Given the description of an element on the screen output the (x, y) to click on. 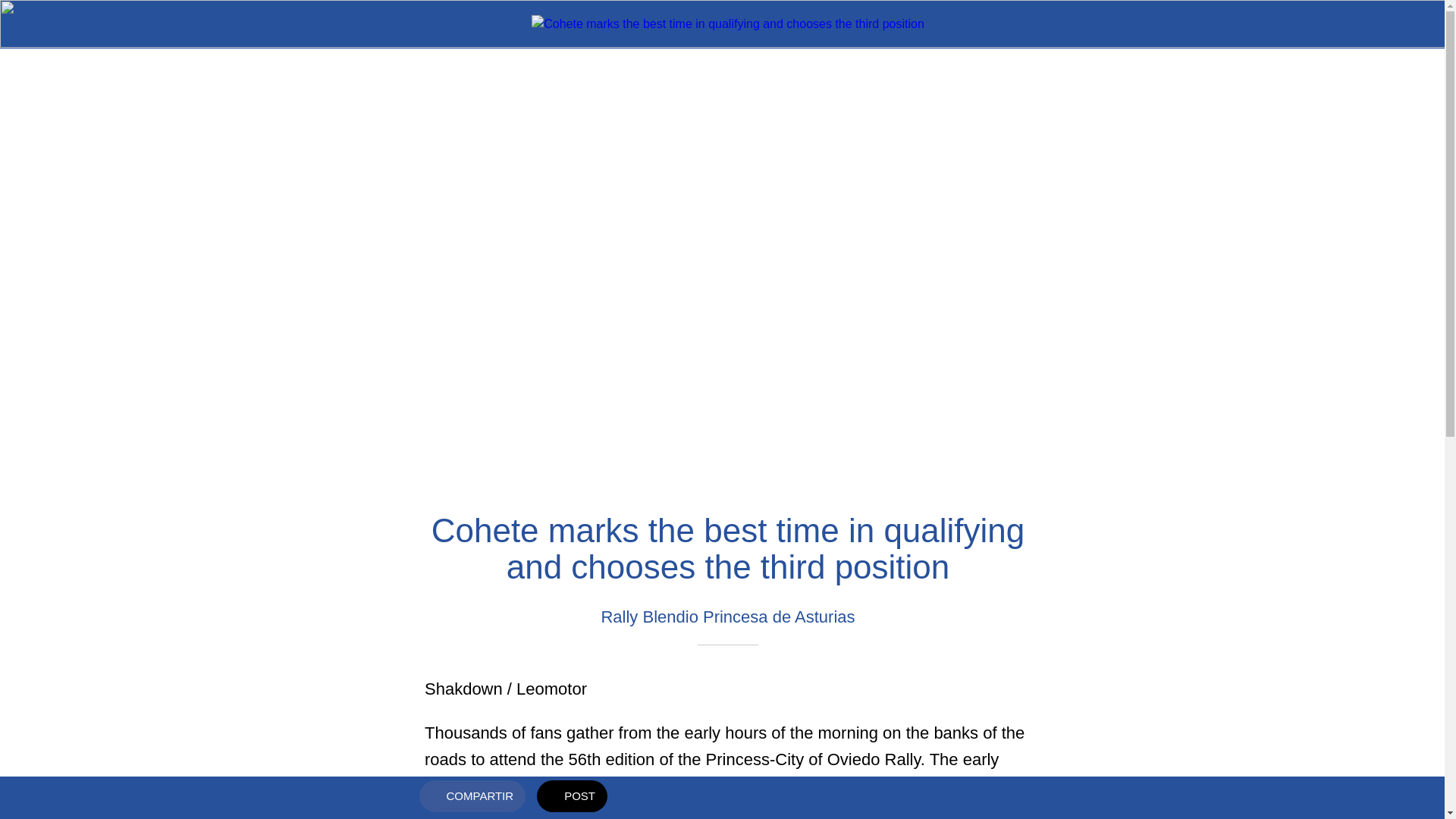
POST (572, 795)
COMPARTIR (472, 795)
